Given the description of an element on the screen output the (x, y) to click on. 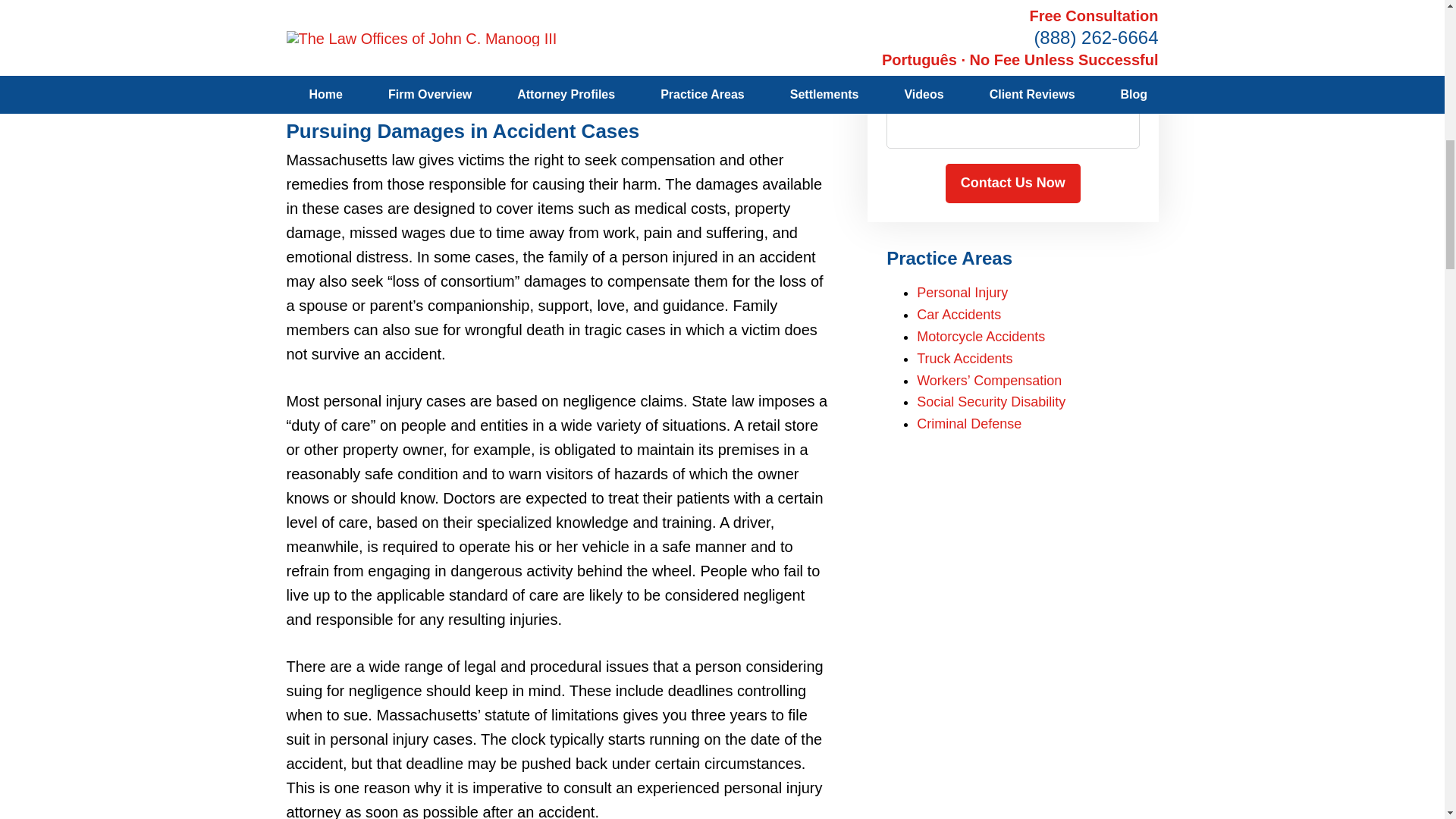
Motorcycle Accidents (981, 336)
Social Security Disability (991, 401)
Criminal Defense (969, 423)
Practice Areas (948, 258)
Contact Us Now (1012, 183)
Car Accidents (959, 314)
Personal Injury (962, 292)
Truck Accidents (964, 358)
